Given the description of an element on the screen output the (x, y) to click on. 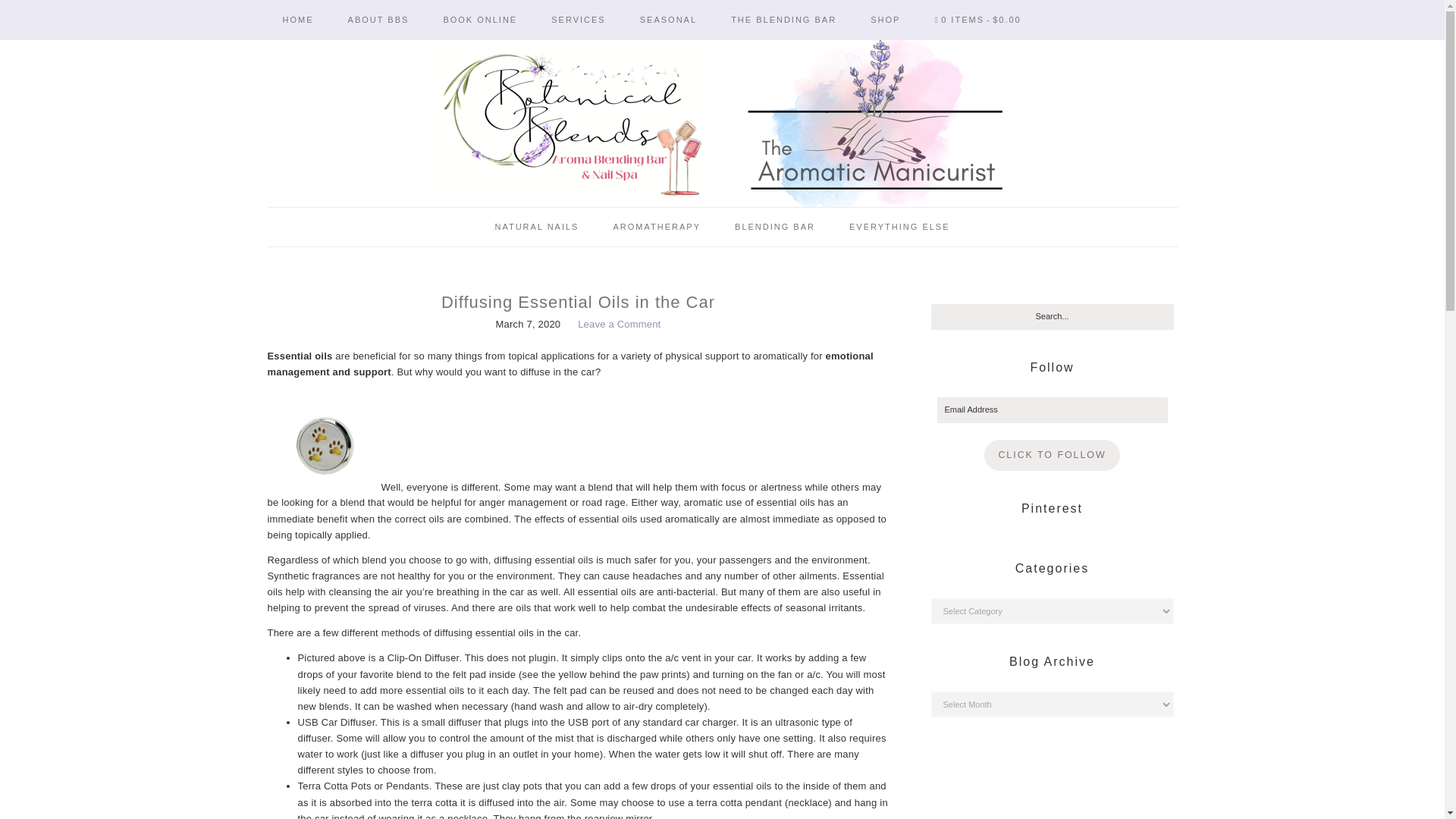
THE BLENDING BAR (783, 19)
Leave a Comment (619, 324)
SEASONAL (667, 19)
BLENDING BAR (774, 227)
BOOK ONLINE (480, 19)
ABOUT BBS (379, 19)
HOME (297, 19)
AROMATHERAPY (655, 227)
Start shopping (976, 19)
